Given the description of an element on the screen output the (x, y) to click on. 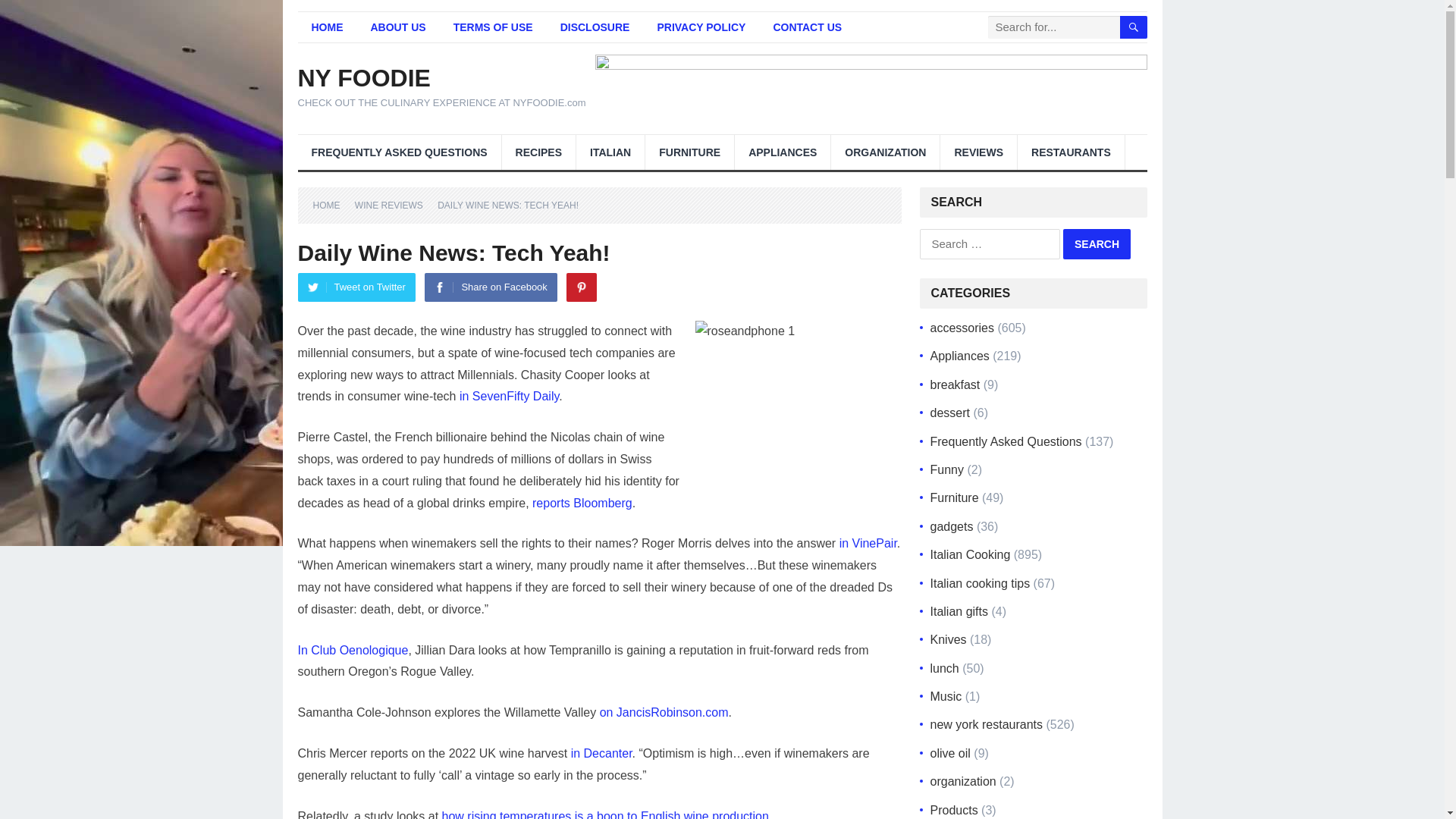
RECIPES (538, 152)
HOME (326, 27)
FREQUENTLY ASKED QUESTIONS (398, 152)
RESTAURANTS (1070, 152)
ORGANIZATION (885, 152)
Daily Wine News: Tech Yeah! 1 (797, 389)
CONTACT US (807, 27)
FURNITURE (689, 152)
Search (1096, 244)
REVIEWS (978, 152)
